Given the description of an element on the screen output the (x, y) to click on. 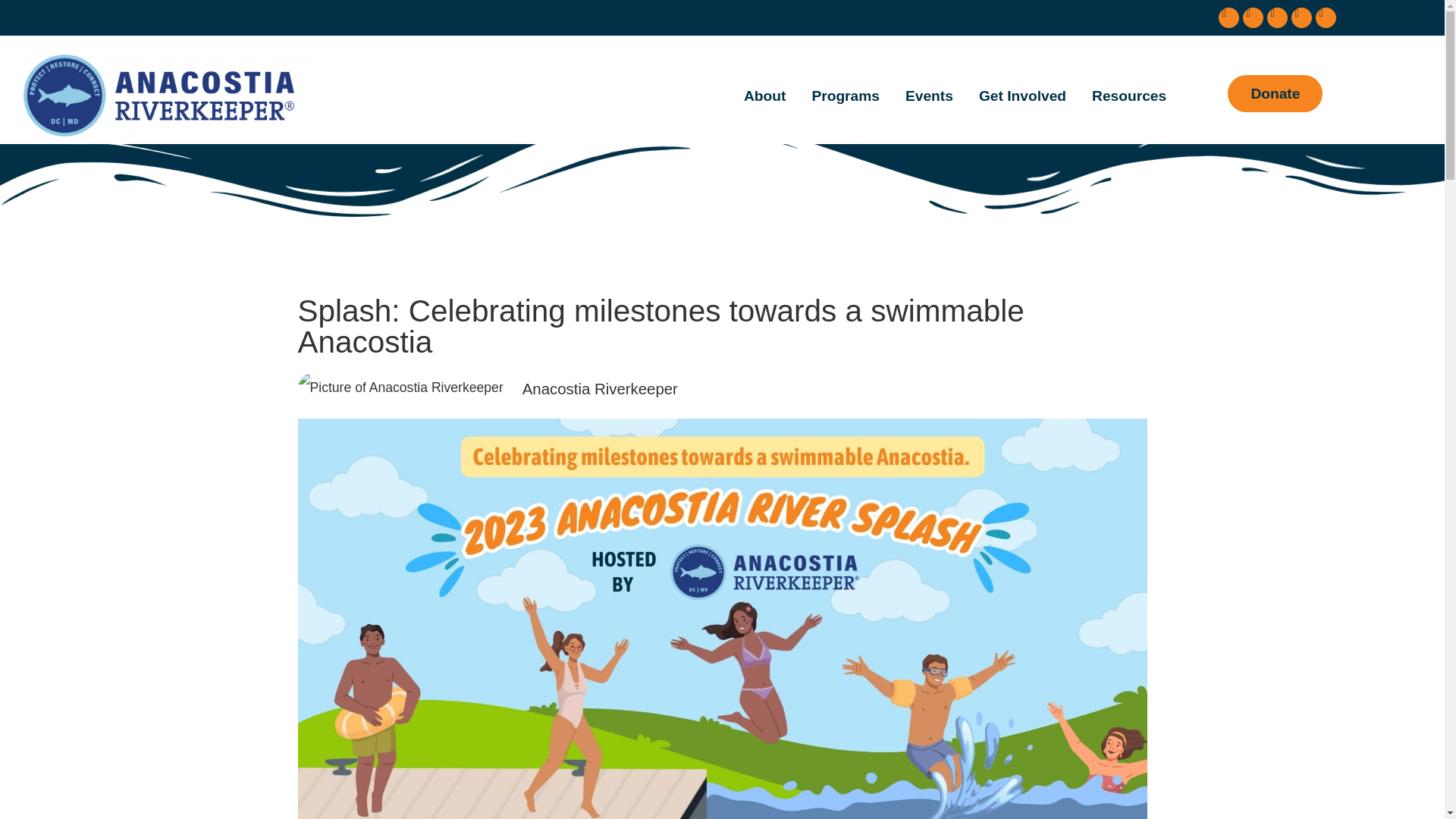
Resources (1128, 95)
Events (929, 95)
About (763, 95)
Programs (844, 95)
Get Involved (1022, 95)
